Given the description of an element on the screen output the (x, y) to click on. 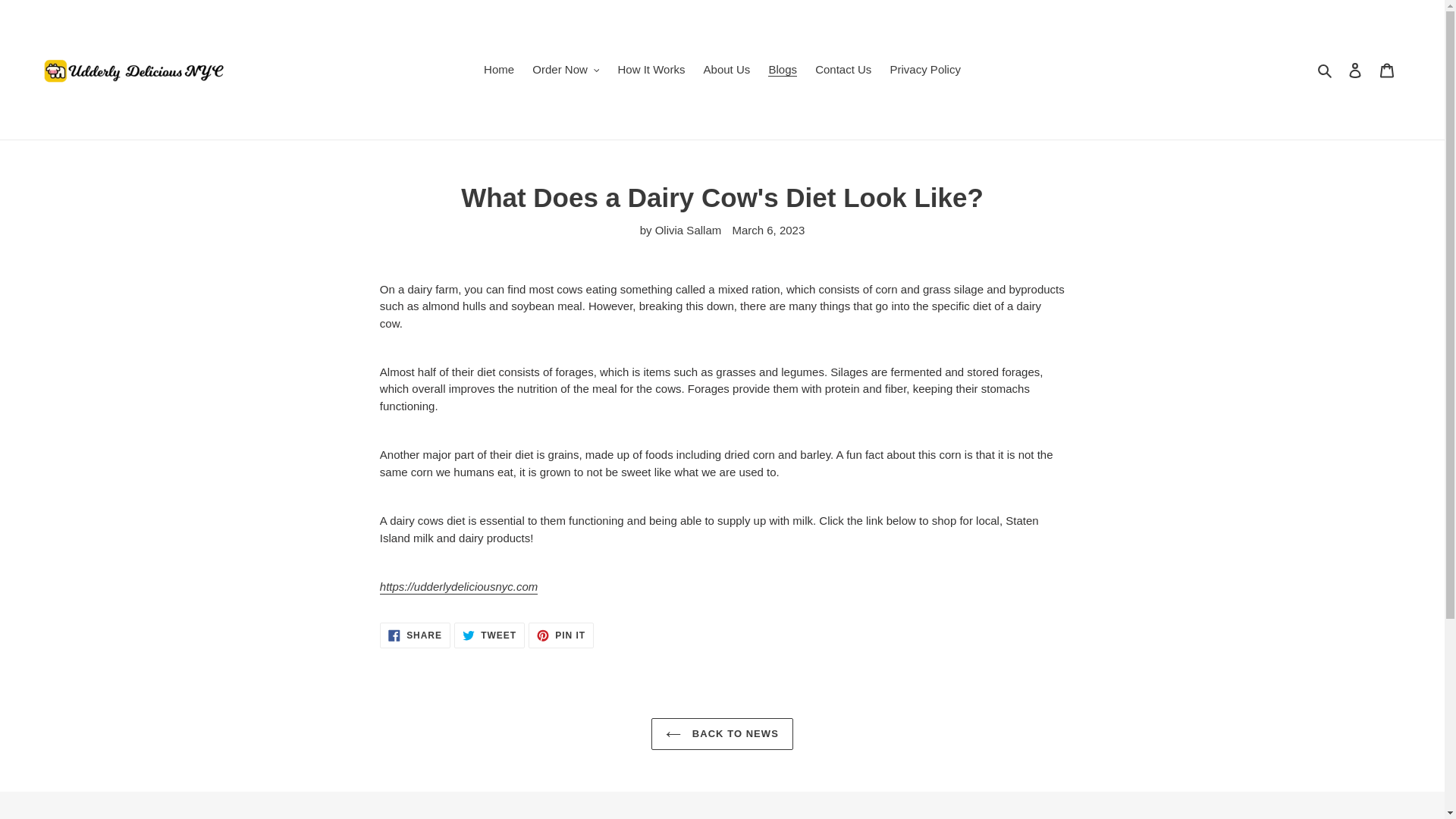
Privacy Policy (925, 69)
About Us (726, 69)
Order Now (565, 69)
Home (498, 69)
Log in (1355, 70)
Cart (1387, 70)
Search (1326, 69)
How It Works (651, 69)
Blogs (782, 69)
Contact Us (843, 69)
